Given the description of an element on the screen output the (x, y) to click on. 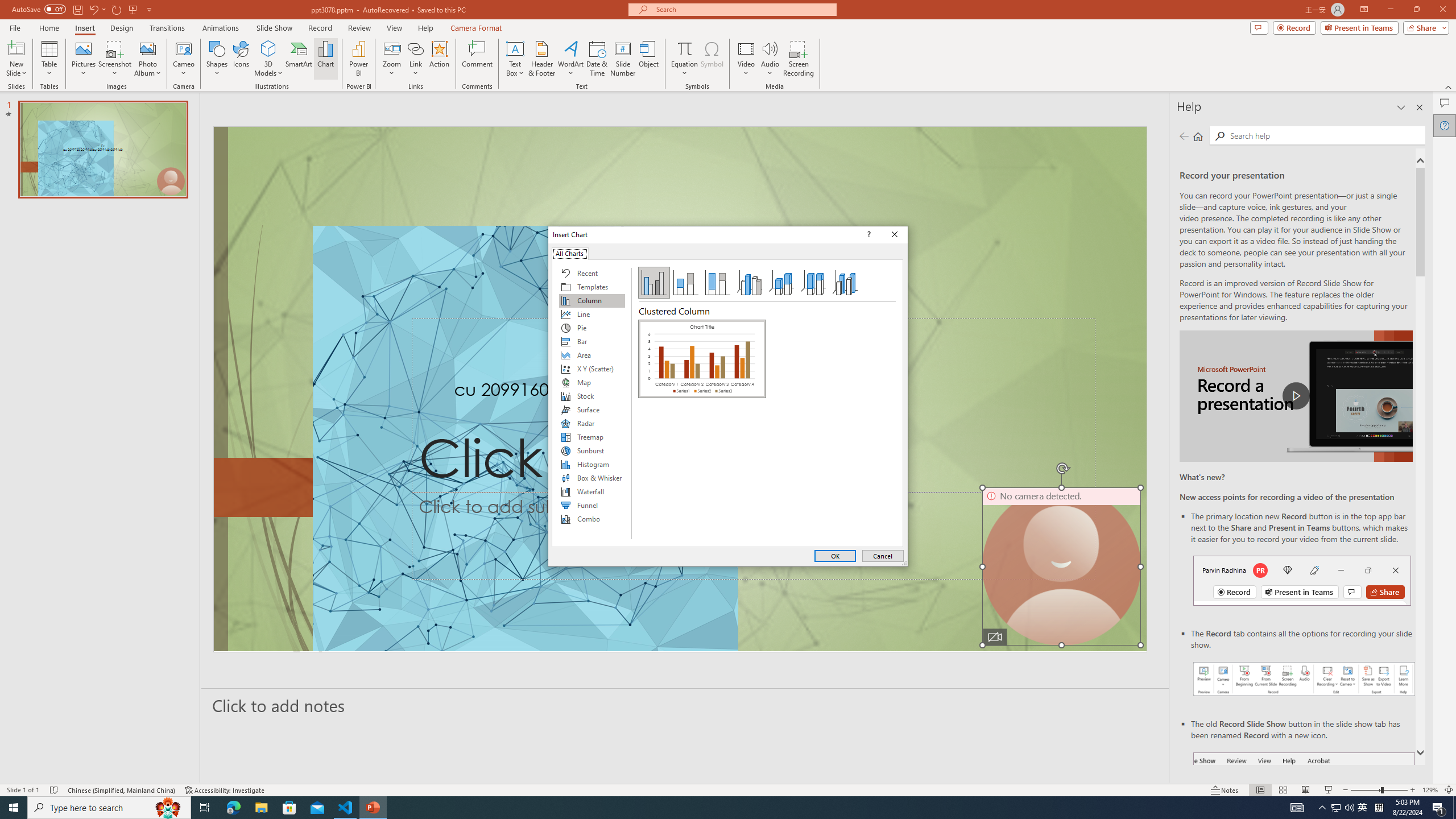
Chart... (325, 58)
Table (49, 58)
Combo (591, 518)
Stock (591, 395)
3D Models (268, 58)
Camera Format (475, 28)
